Given the description of an element on the screen output the (x, y) to click on. 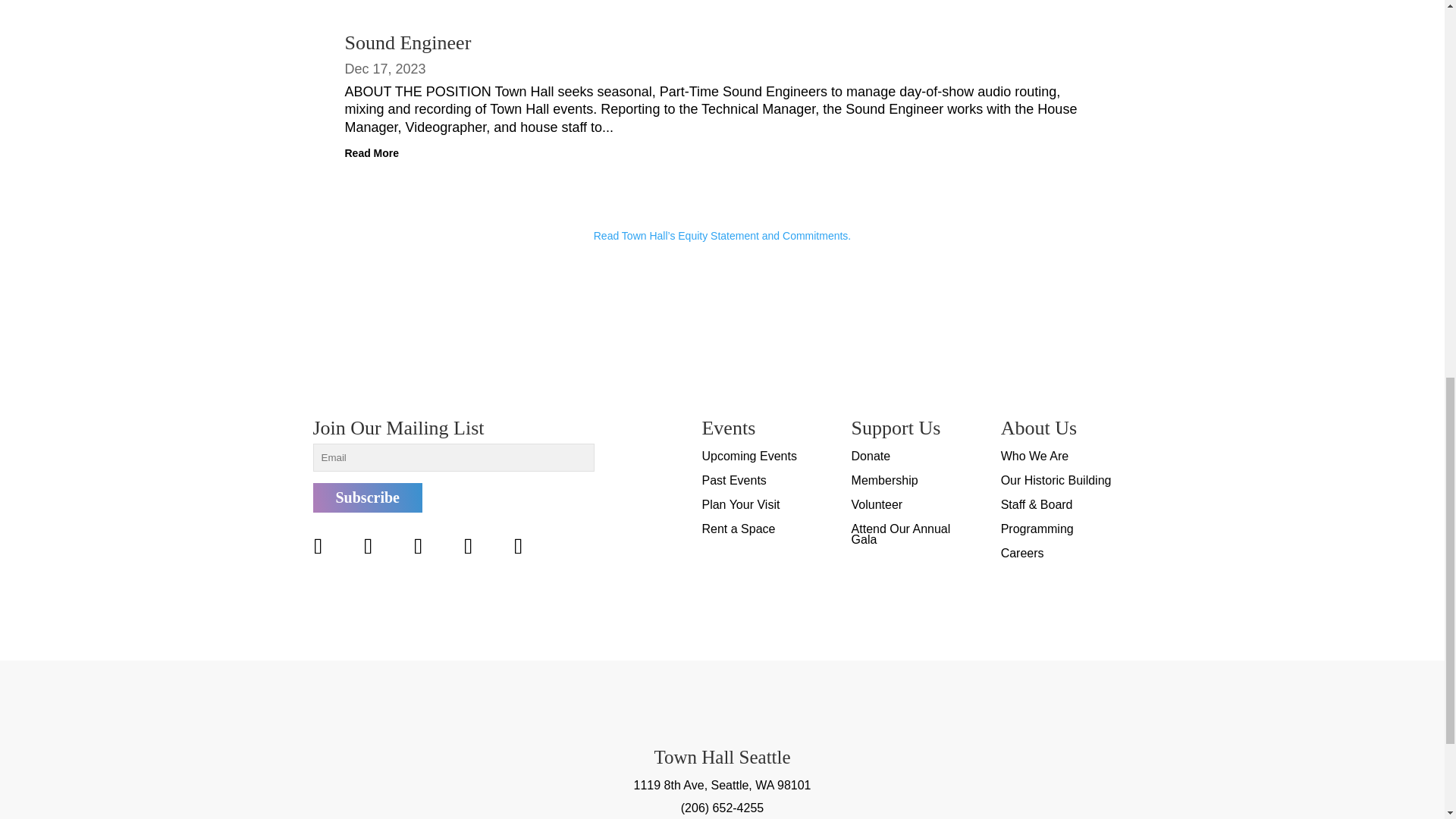
Subscribe (367, 497)
